Given the description of an element on the screen output the (x, y) to click on. 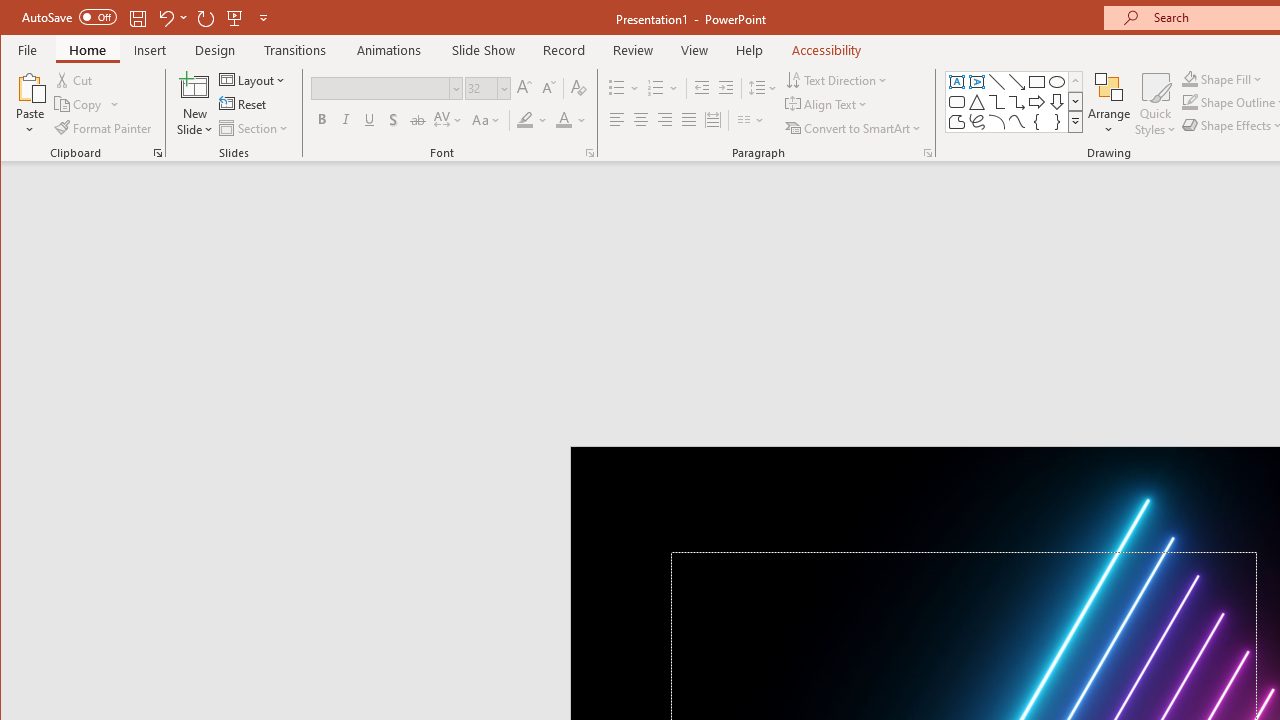
Underline (369, 119)
AutomationID: ShapesInsertGallery (1014, 102)
Align Text (828, 103)
Quick Styles (1155, 104)
Decrease Font Size (548, 88)
Oval (1057, 82)
Paragraph... (927, 152)
Convert to SmartArt (855, 127)
